Given the description of an element on the screen output the (x, y) to click on. 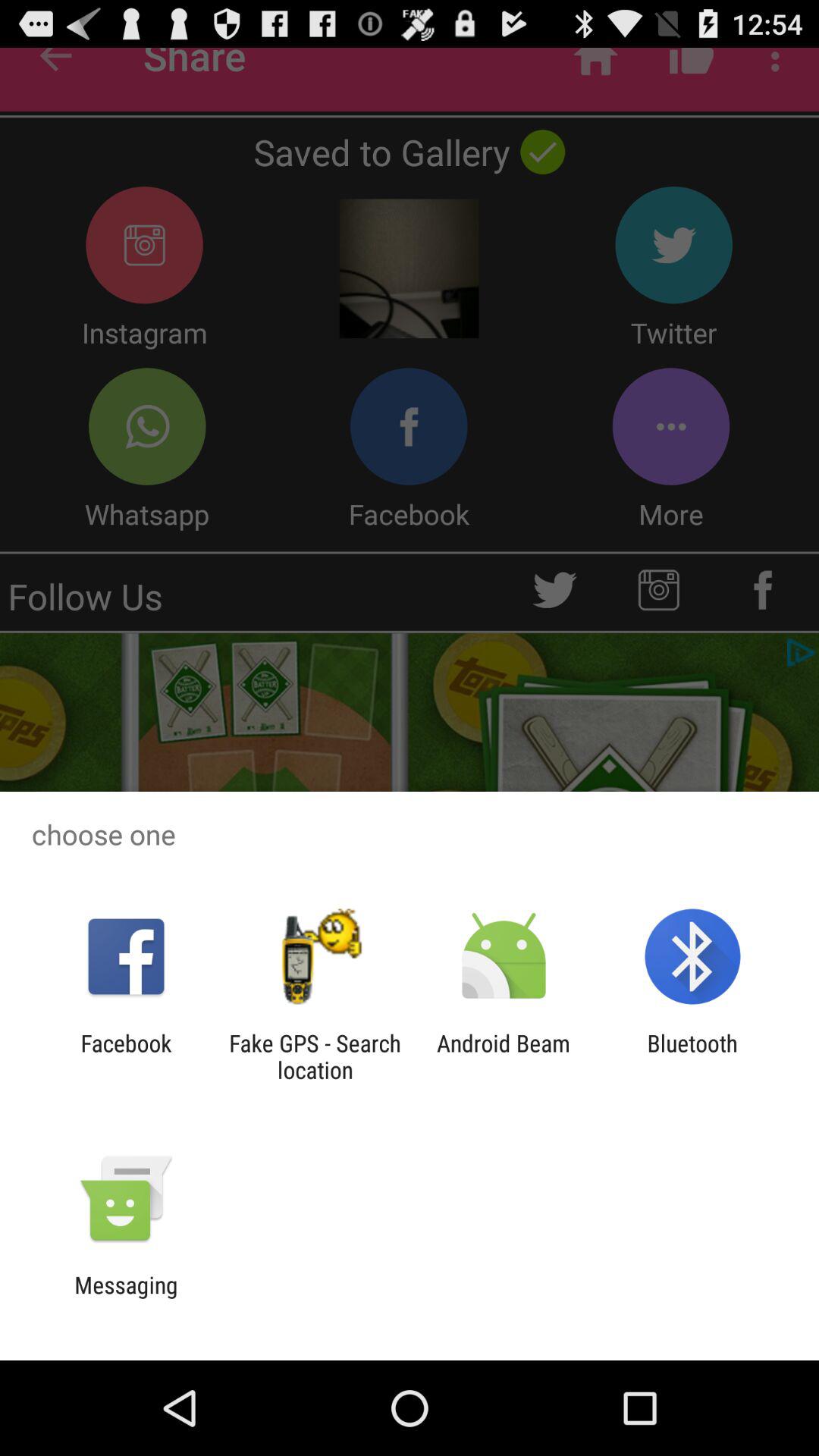
select android beam app (503, 1056)
